Given the description of an element on the screen output the (x, y) to click on. 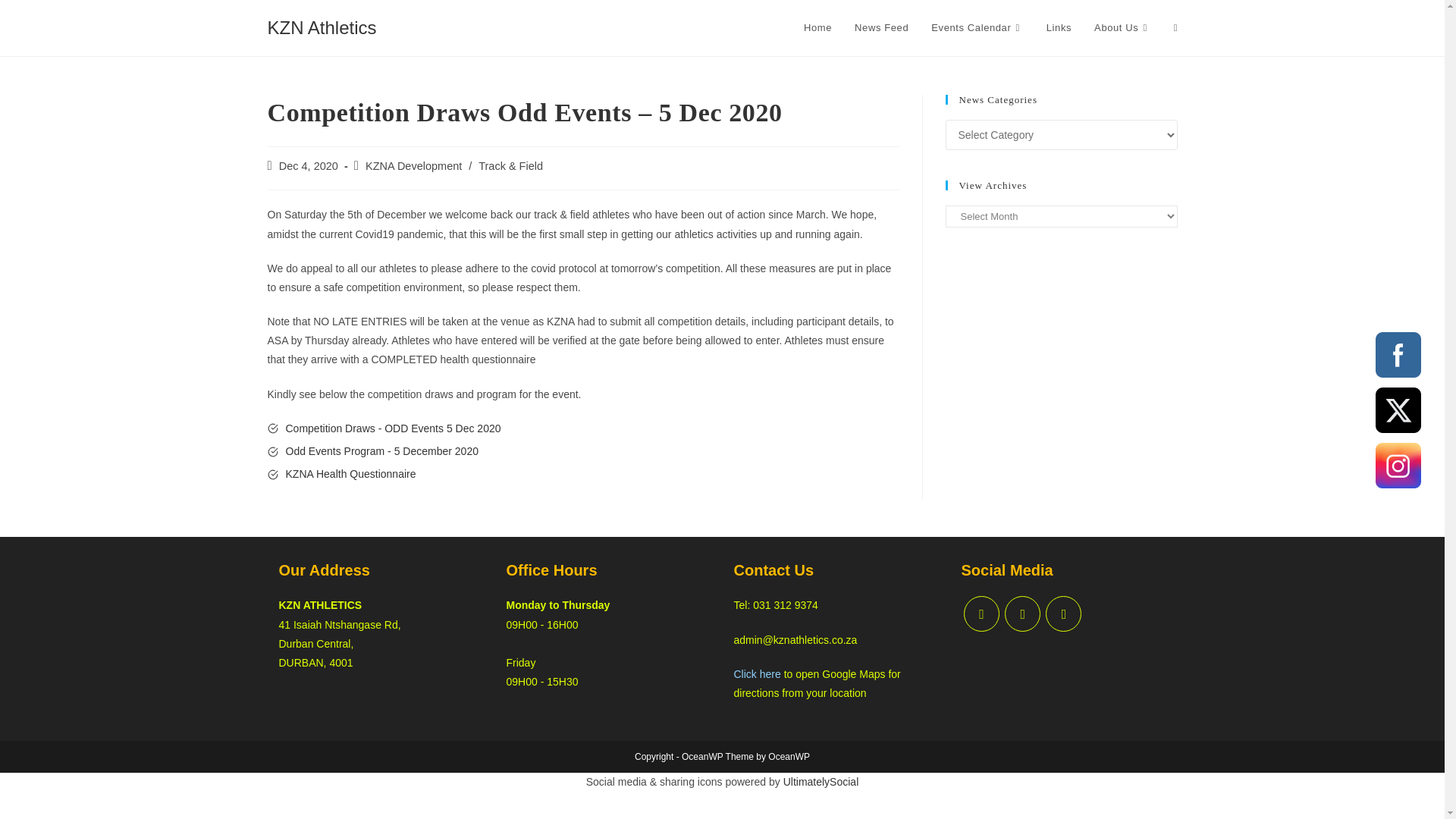
Events Calendar (976, 28)
Home (817, 28)
UltimatelySocial (821, 781)
News Feed (881, 28)
KZNA Health Questionnaire (349, 473)
Facebook (1398, 354)
About Us (1122, 28)
Odd Events Program - 5 December 2020 (381, 451)
Competition Draws - ODD Events 5 Dec 2020 (392, 428)
KZN Athletics (320, 27)
